Given the description of an element on the screen output the (x, y) to click on. 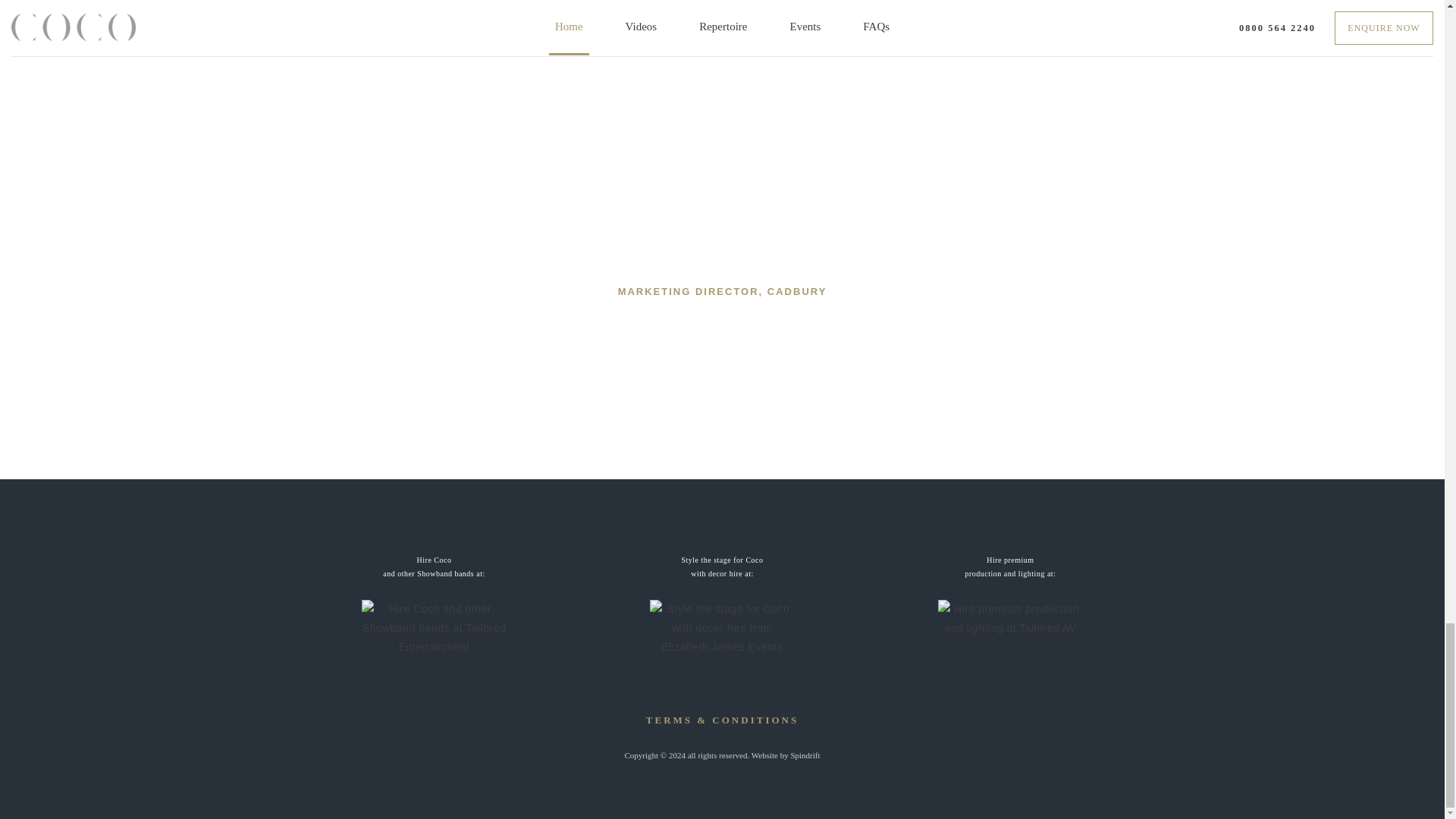
Spindrift (721, 567)
Hire premium production and lighting at Tailored AV (1011, 567)
Hire Coco and other Showband bands at Tailored Entertainment (804, 755)
